Given the description of an element on the screen output the (x, y) to click on. 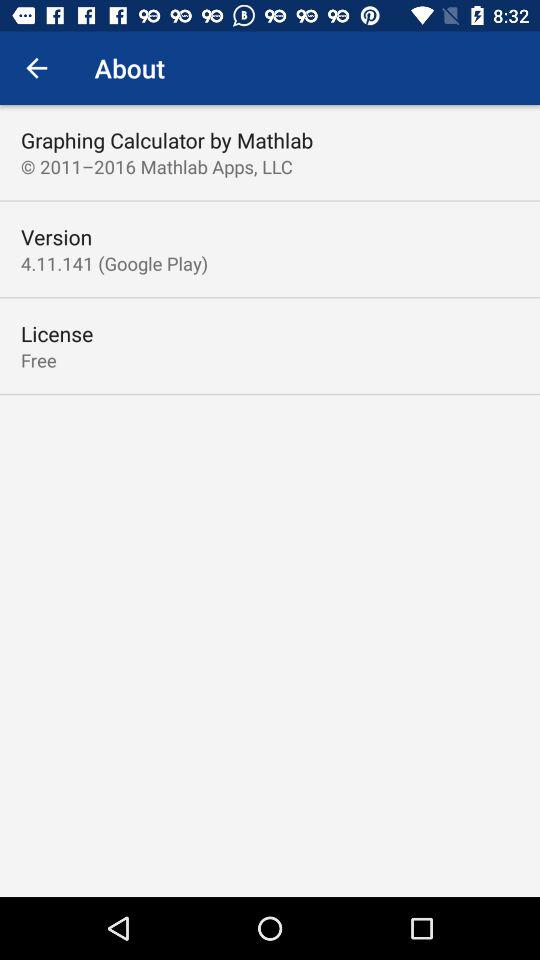
flip to license (57, 333)
